Given the description of an element on the screen output the (x, y) to click on. 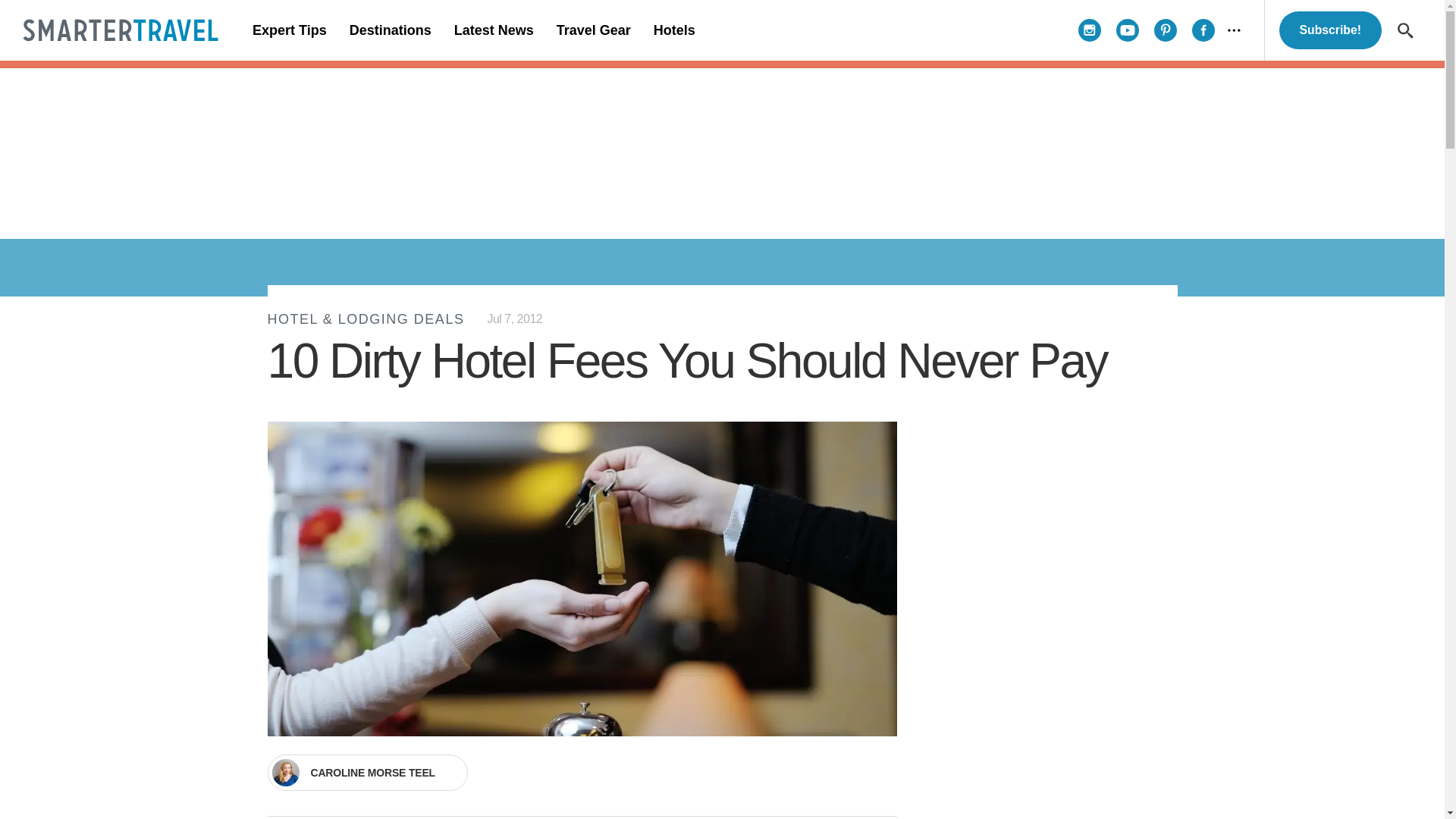
Latest News (493, 30)
Destinations (389, 30)
Travel Gear (593, 30)
Expert Tips (289, 30)
Hotels (674, 30)
Subscribe! (1330, 30)
